Given the description of an element on the screen output the (x, y) to click on. 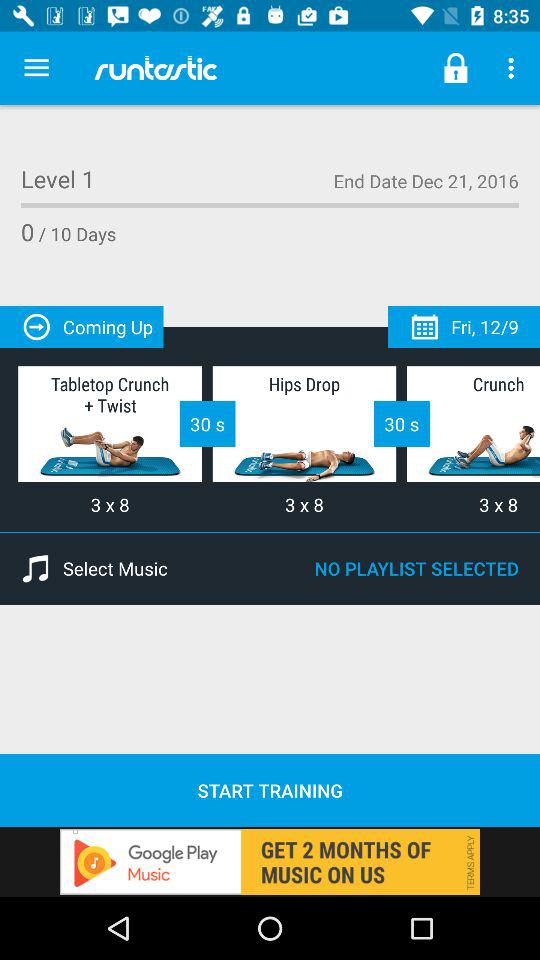
click on advertisement (270, 861)
